Given the description of an element on the screen output the (x, y) to click on. 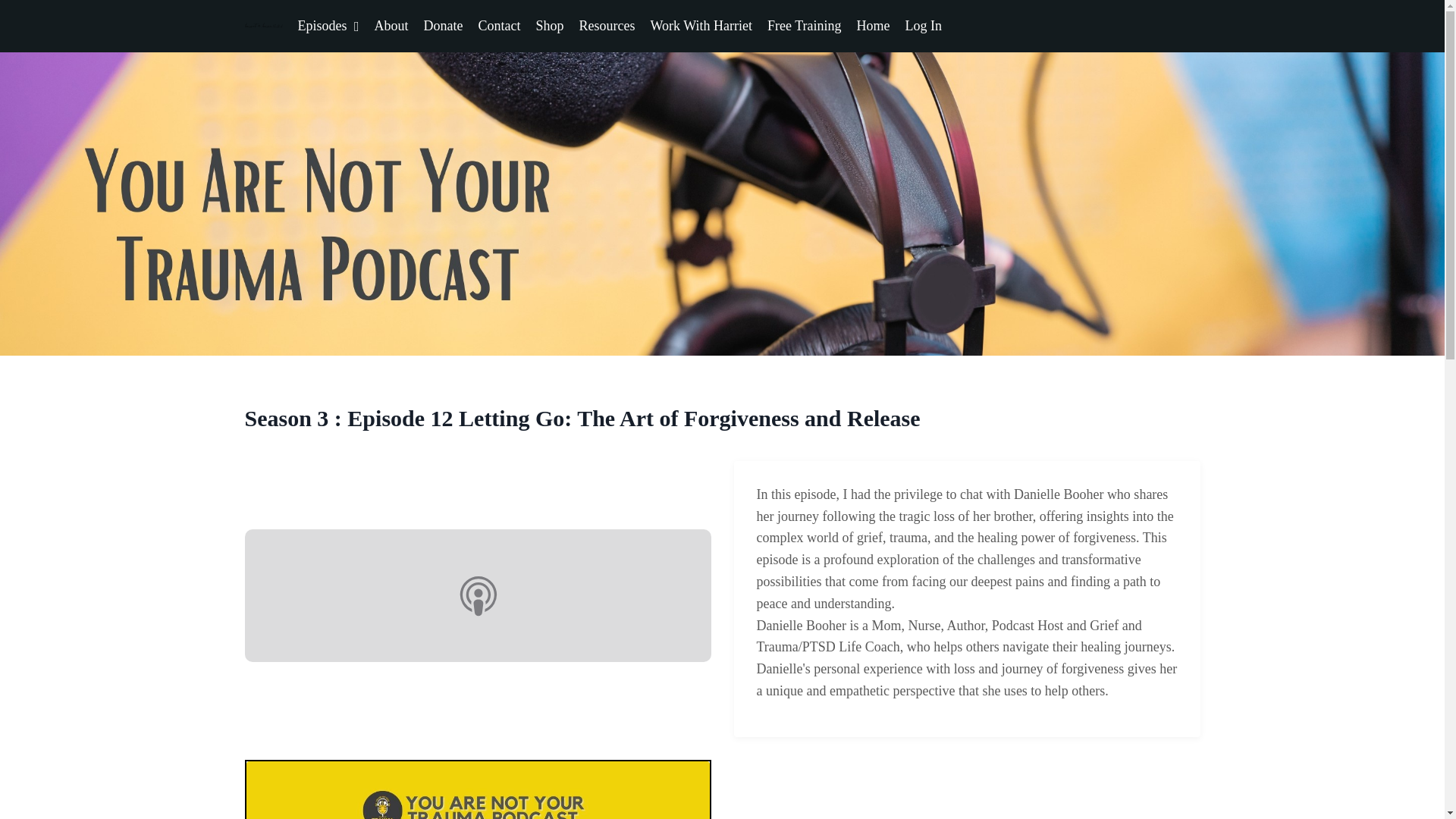
Shop (549, 25)
Home (873, 25)
Log In (923, 25)
Episodes (327, 25)
Contact (500, 25)
Resources (606, 25)
About (391, 25)
Work With Harriet (701, 25)
Free Training (804, 25)
Donate (443, 25)
